Given the description of an element on the screen output the (x, y) to click on. 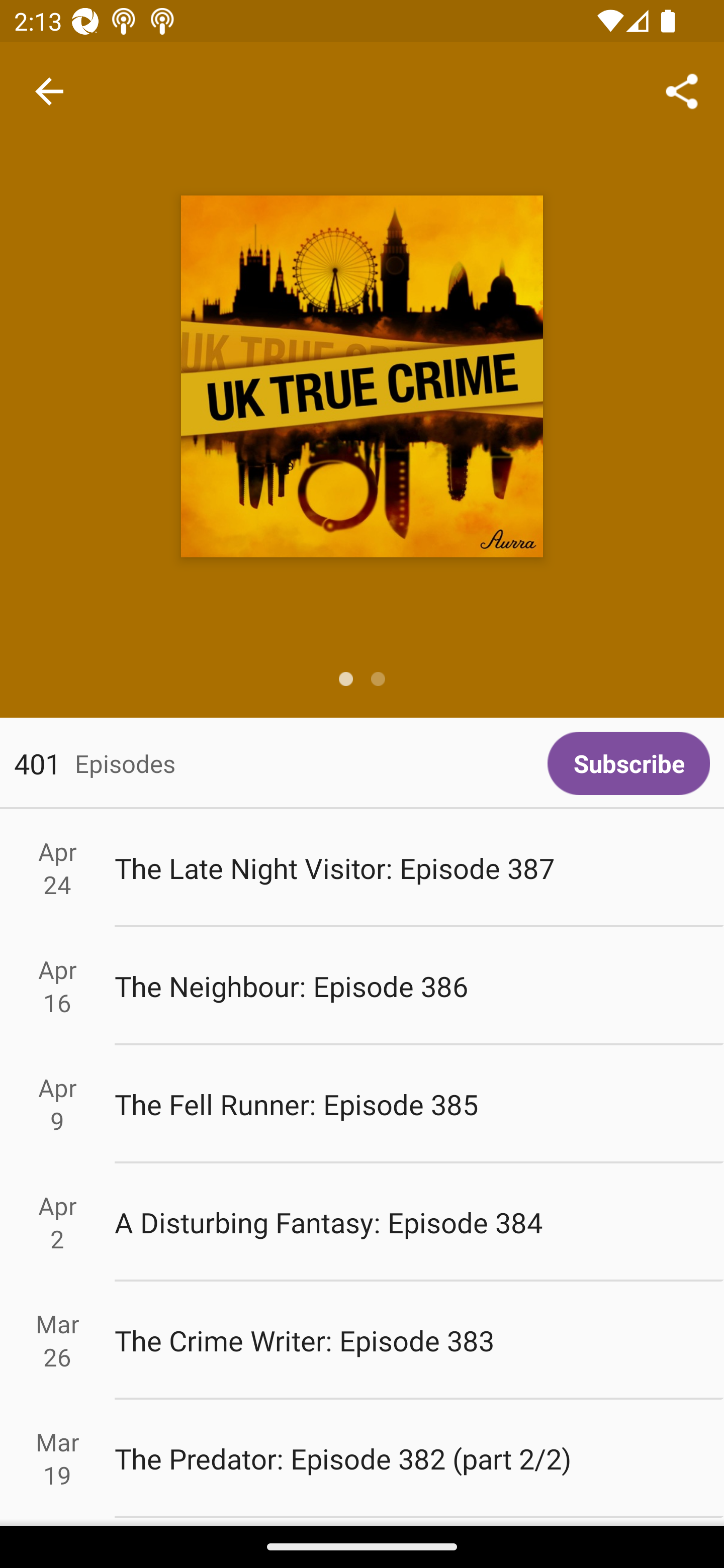
Navigate up (49, 91)
Share... (681, 90)
Subscribe (628, 763)
Apr 24 The Late Night Visitor: Episode 387 (362, 867)
Apr 16 The Neighbour: Episode 386 (362, 985)
Apr 9 The Fell Runner: Episode 385 (362, 1104)
Apr 2 A Disturbing Fantasy: Episode 384 (362, 1222)
Mar 26 The Crime Writer: Episode 383 (362, 1340)
Mar 19 The Predator: Episode 382 (part 2/2) (362, 1458)
